Given the description of an element on the screen output the (x, y) to click on. 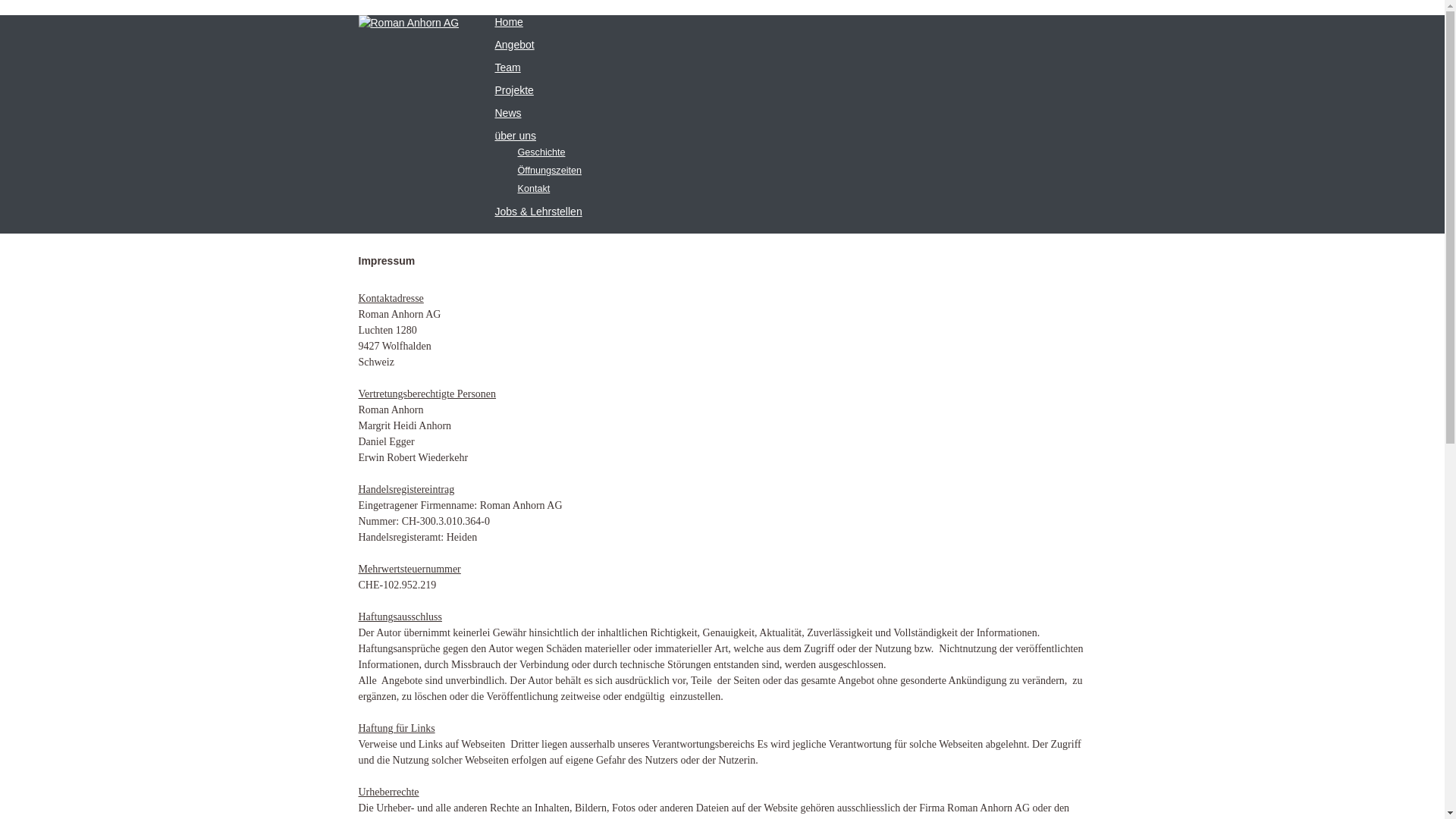
Projekte Element type: text (513, 90)
Kontakt Element type: text (533, 188)
Geschichte Element type: text (540, 152)
Jobs & Lehrstellen Element type: text (537, 211)
Home Element type: text (508, 21)
Angebot Element type: text (513, 44)
News Element type: text (507, 112)
Team Element type: text (507, 67)
